Given the description of an element on the screen output the (x, y) to click on. 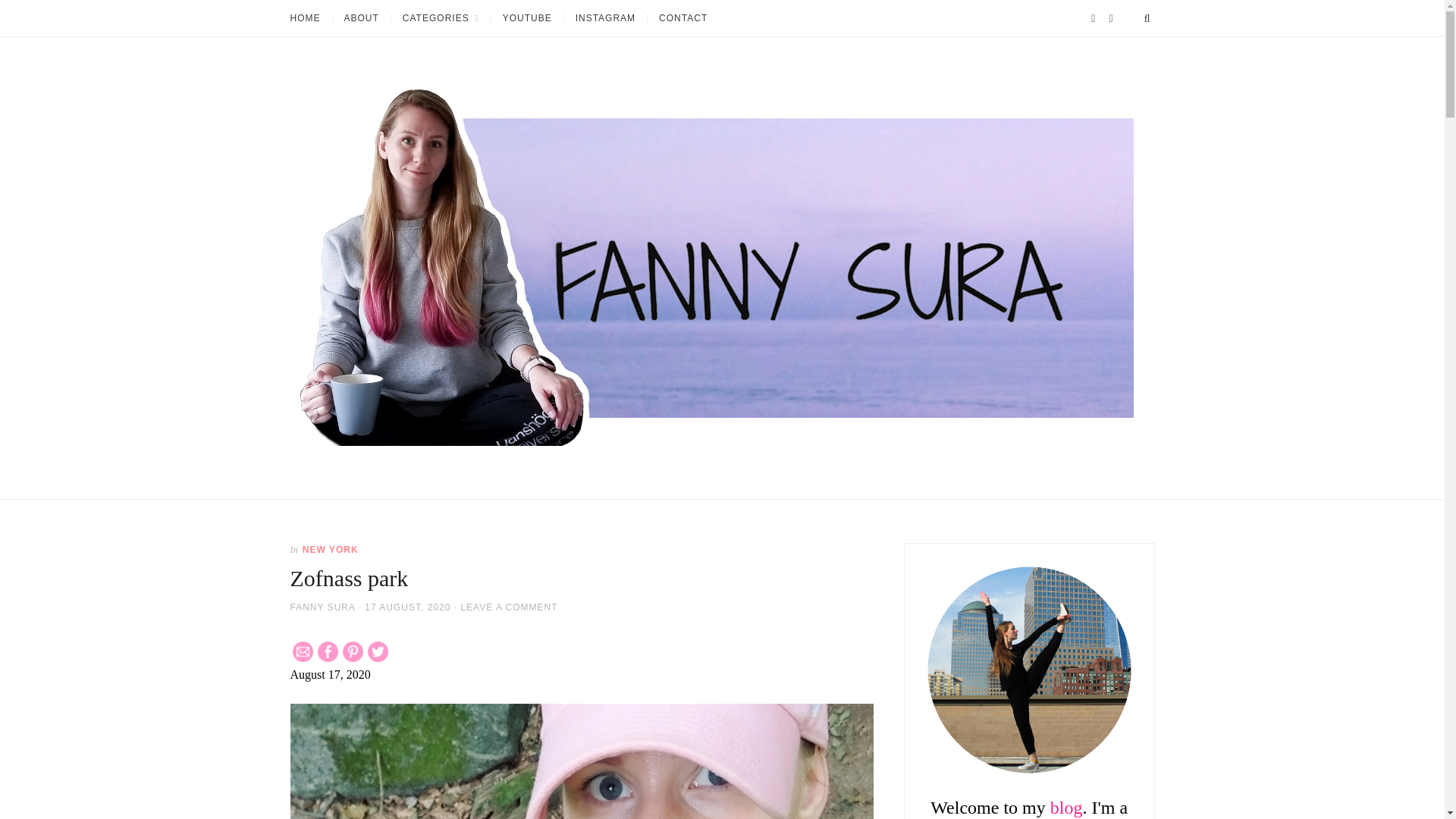
HOME (310, 17)
Twitter (377, 651)
Email (301, 651)
ABOUT (360, 17)
Facebook (327, 651)
CATEGORIES (440, 17)
Pinterest (352, 651)
